Given the description of an element on the screen output the (x, y) to click on. 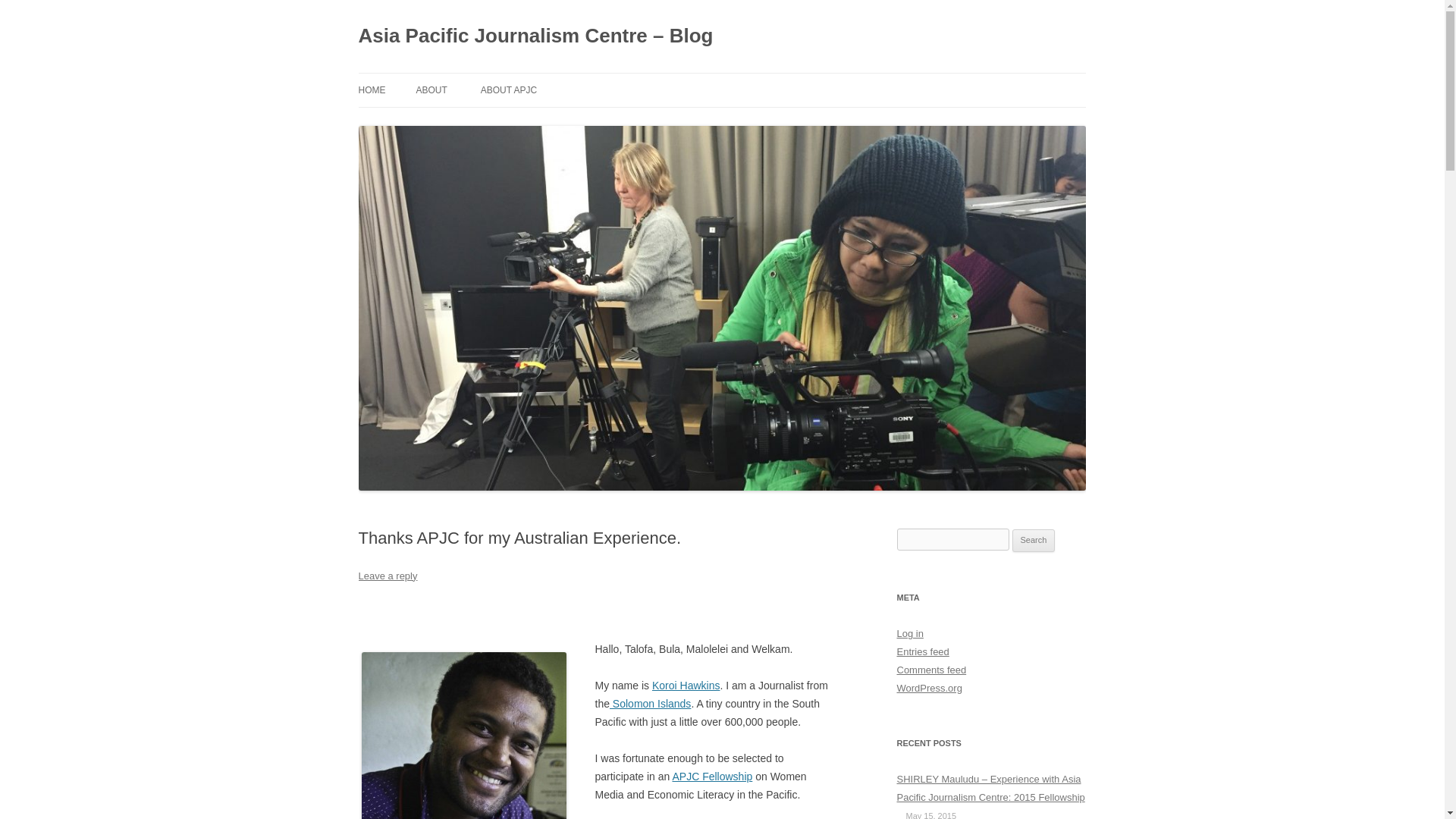
ABOUT (430, 90)
Search (1033, 540)
Koroi Hawkins Linked in Profile (685, 685)
Search (1033, 540)
WordPress.org (928, 687)
Solomon Islands Wikipedia (650, 703)
ABOUT APJC (508, 90)
Log in (909, 633)
Solomon Islands (650, 703)
Asia Pacific Journalism Centre (711, 776)
